Given the description of an element on the screen output the (x, y) to click on. 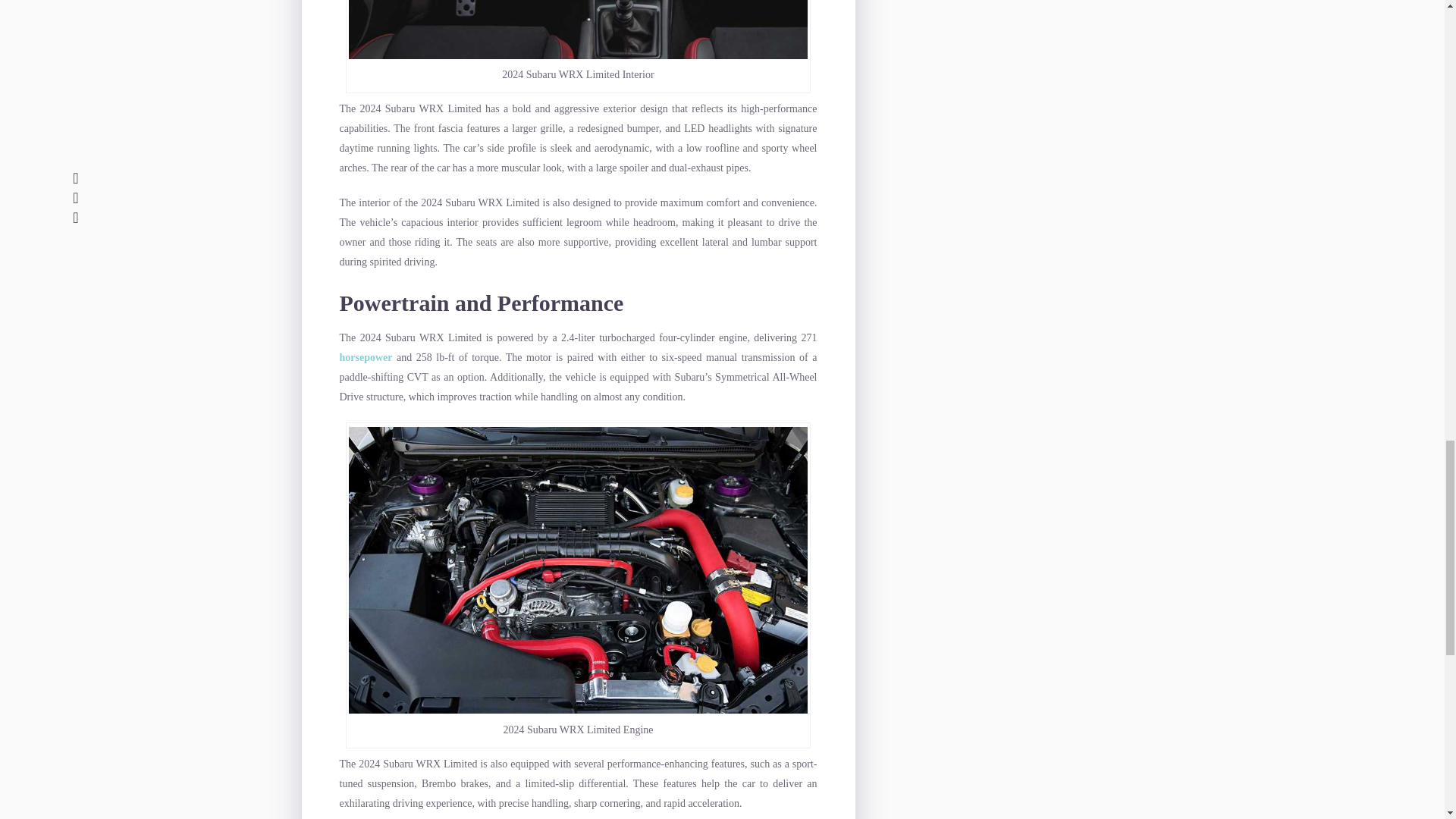
horsepower (366, 357)
